Given the description of an element on the screen output the (x, y) to click on. 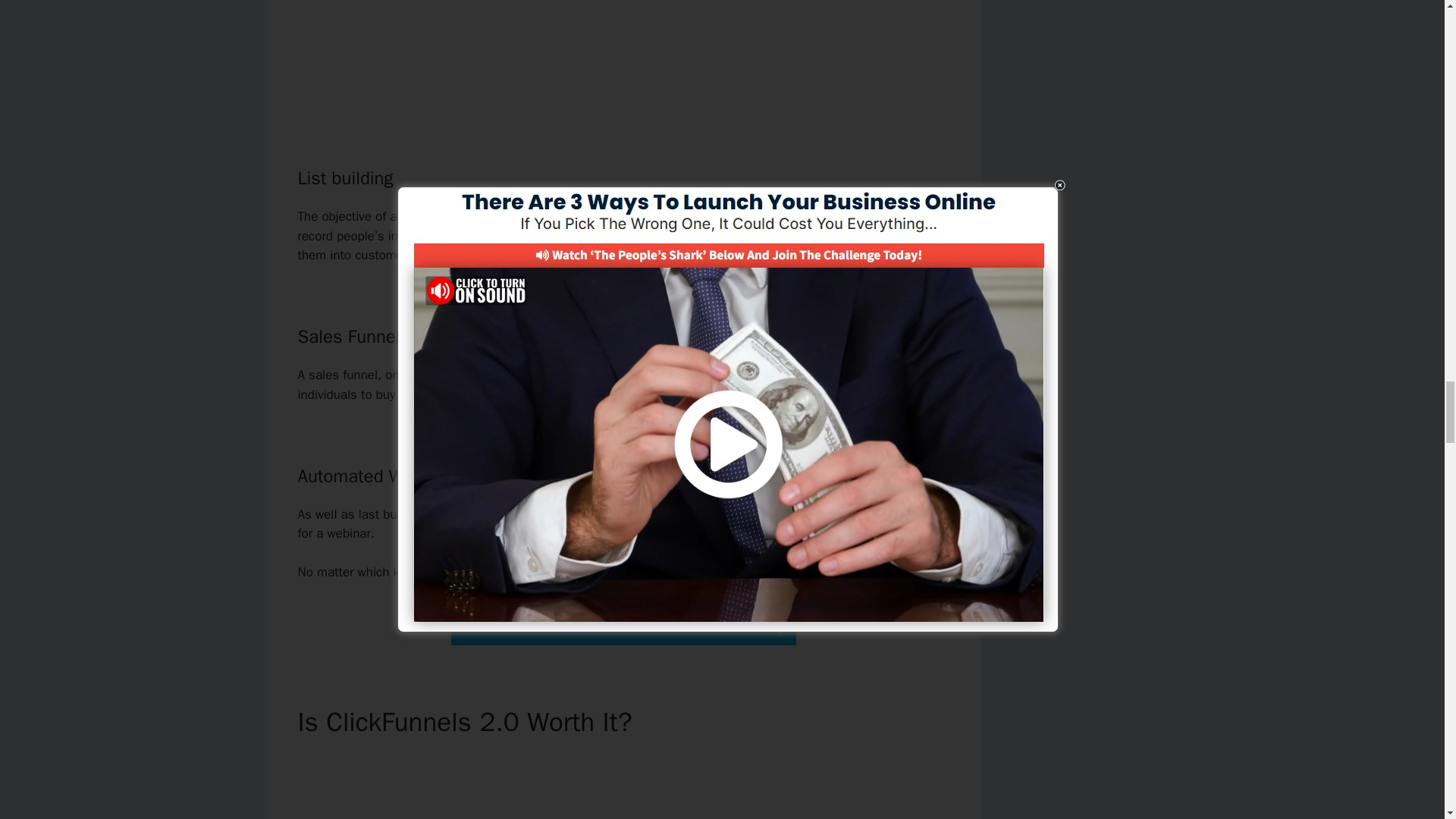
Get ClickFunnels 2.0 Free Account Today (623, 624)
